Given the description of an element on the screen output the (x, y) to click on. 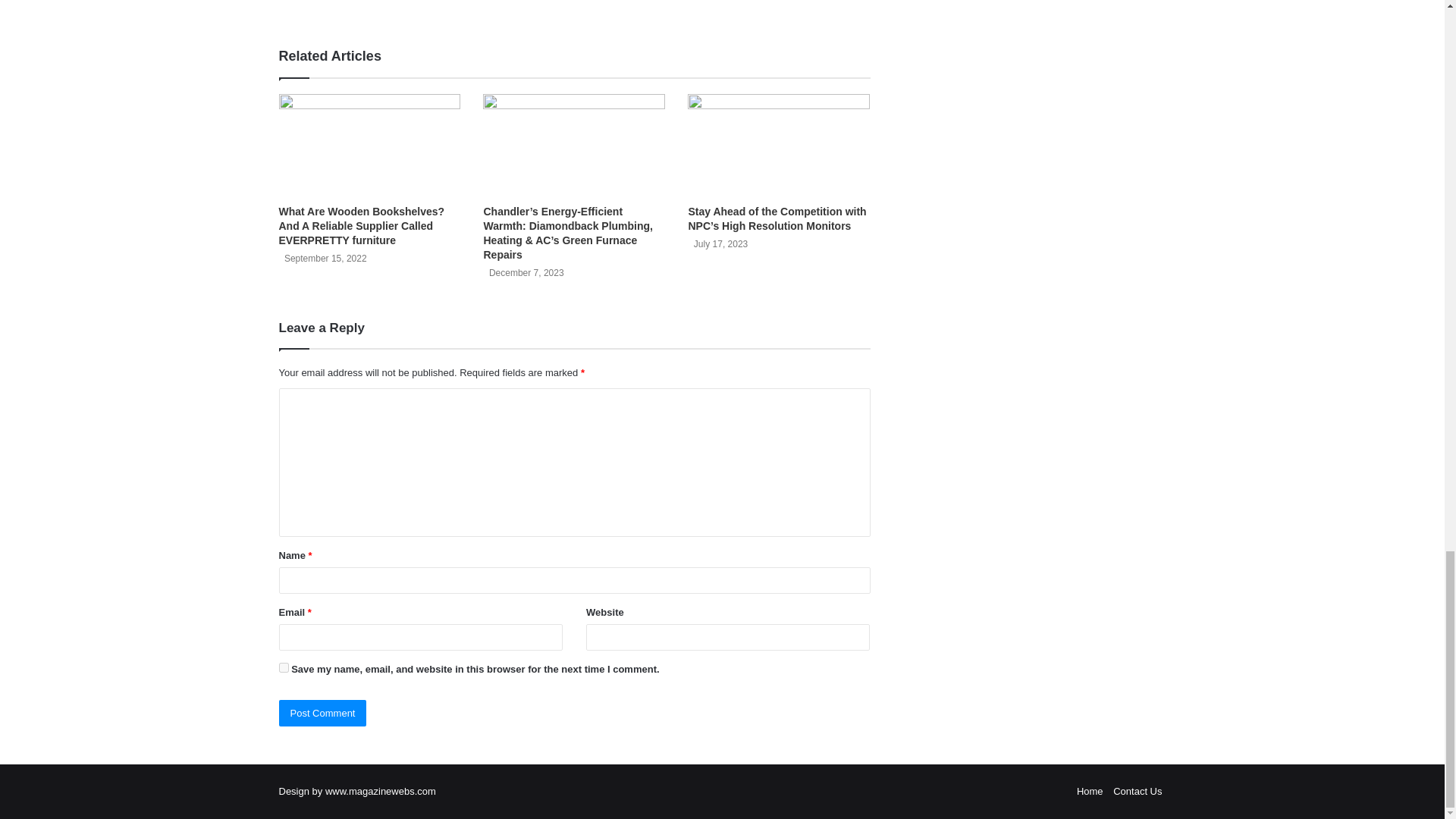
Website (384, 4)
Post Comment (322, 713)
yes (283, 667)
